Given the description of an element on the screen output the (x, y) to click on. 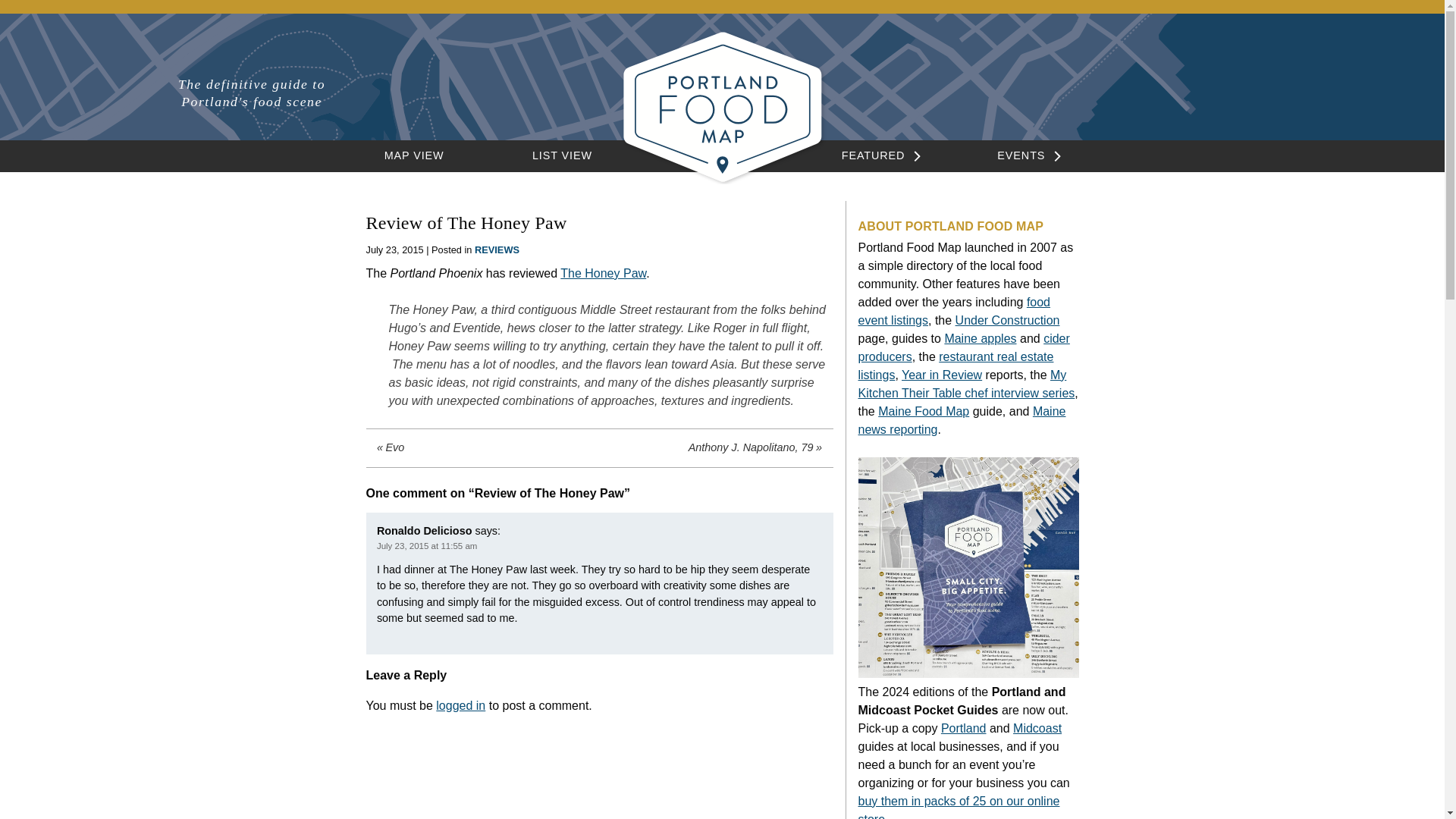
cider producers (964, 347)
Maine apples (979, 338)
Maine Food Map (923, 410)
Maine news reporting (962, 419)
food event listings (955, 310)
Search icon (1168, 88)
RSS icon (1251, 87)
REVIEWS (496, 249)
Year in Review (941, 374)
Anthony J. Napolitano, 79 (713, 447)
The Honey Paw (603, 273)
FEATURED (873, 155)
Under Construction (1007, 319)
Twitter icon (1223, 87)
Instagram icon (1196, 88)
